Given the description of an element on the screen output the (x, y) to click on. 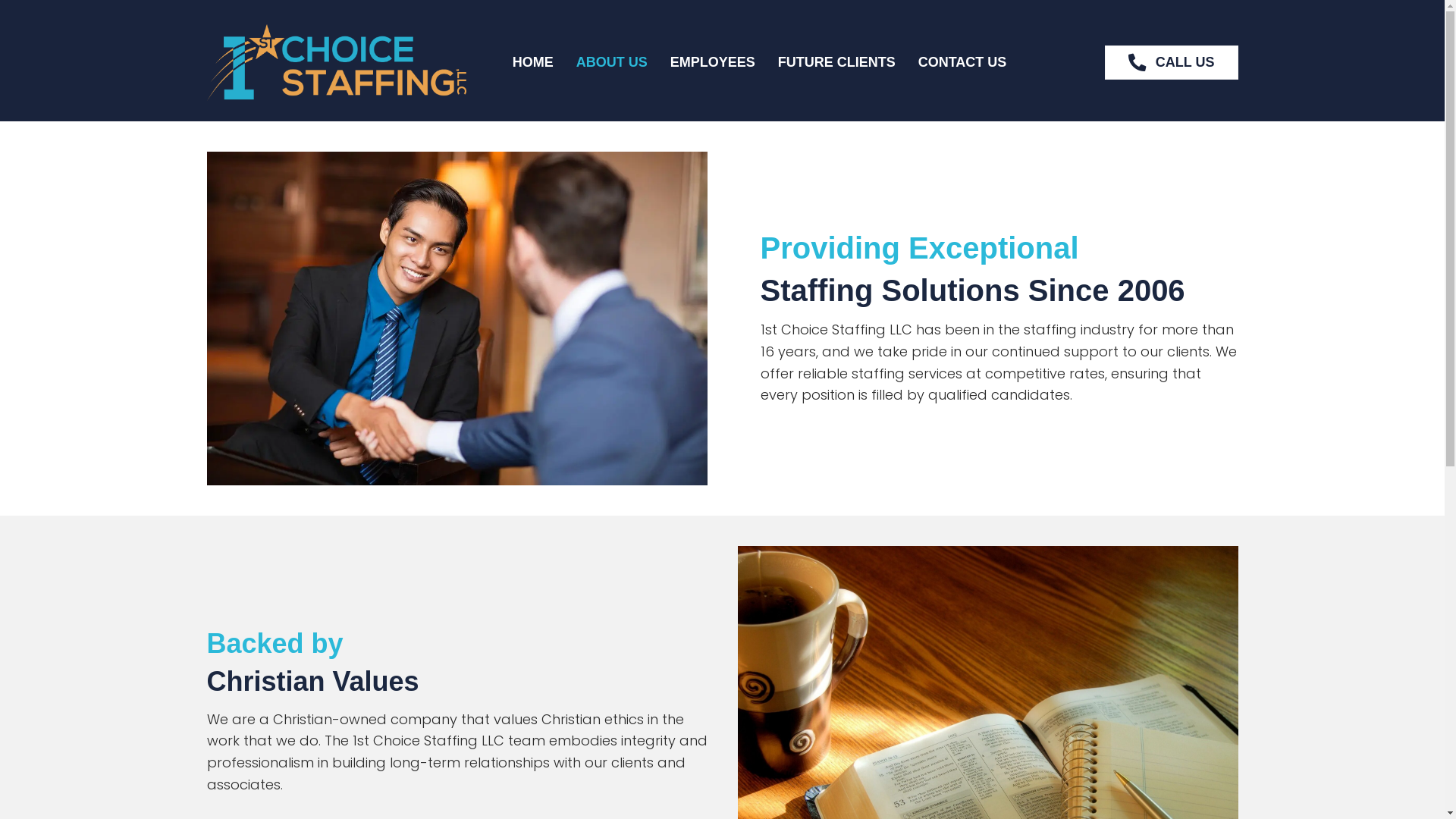
CALL US Element type: text (1171, 62)
CONTACT US Element type: text (962, 62)
ABOUT US Element type: text (611, 62)
HOME Element type: text (532, 62)
fm=f_DddEy9w Element type: hover (456, 318)
FUTURE CLIENTS Element type: text (836, 62)
1st choice staffing hq Element type: hover (336, 62)
EMPLOYEES Element type: text (712, 62)
